Given the description of an element on the screen output the (x, y) to click on. 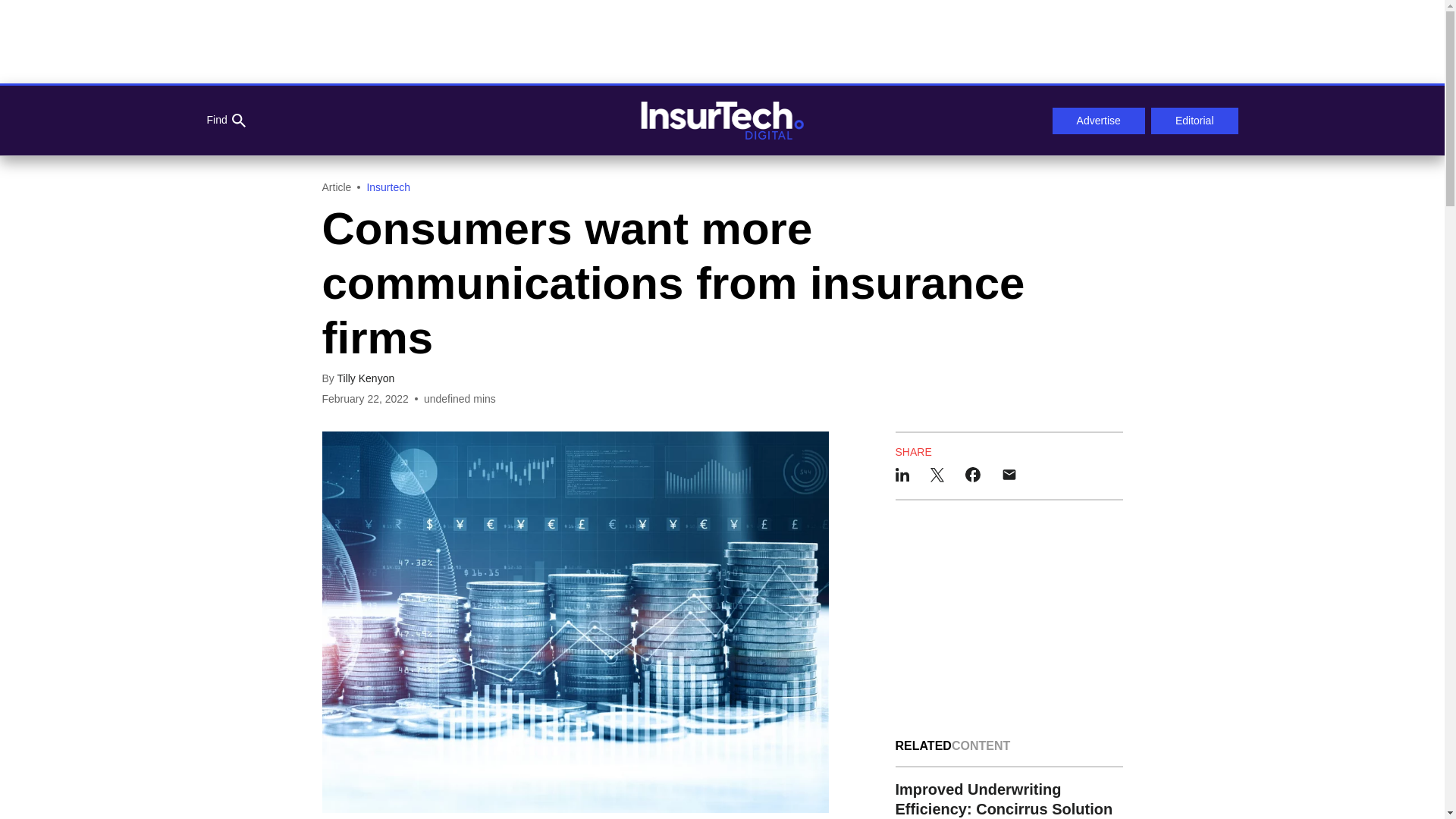
Editorial (1195, 121)
Find (225, 120)
Advertise (1098, 121)
Tilly Kenyon (365, 378)
